Given the description of an element on the screen output the (x, y) to click on. 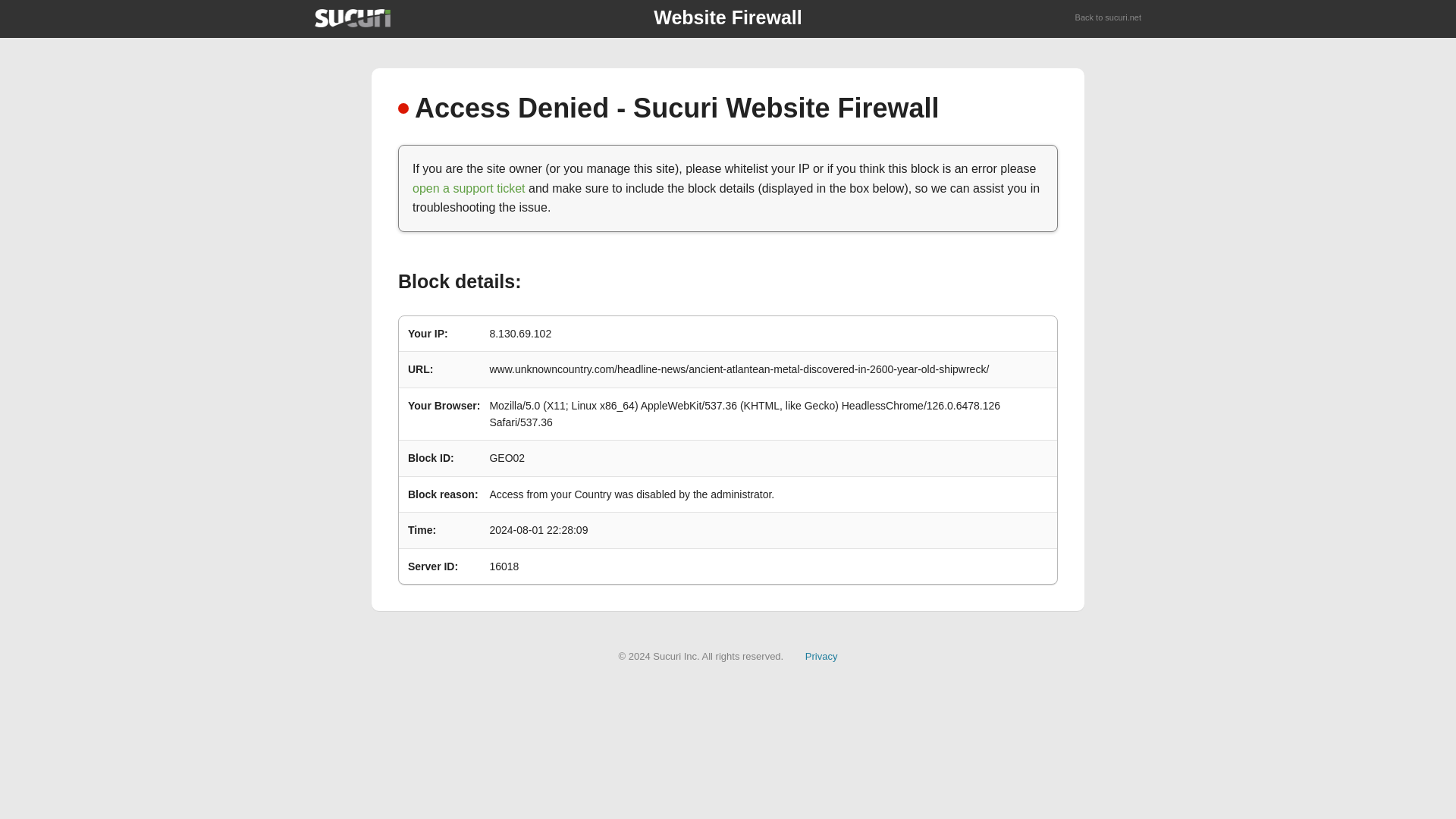
Back to sucuri.net (1108, 18)
Privacy (821, 655)
open a support ticket (468, 187)
